Given the description of an element on the screen output the (x, y) to click on. 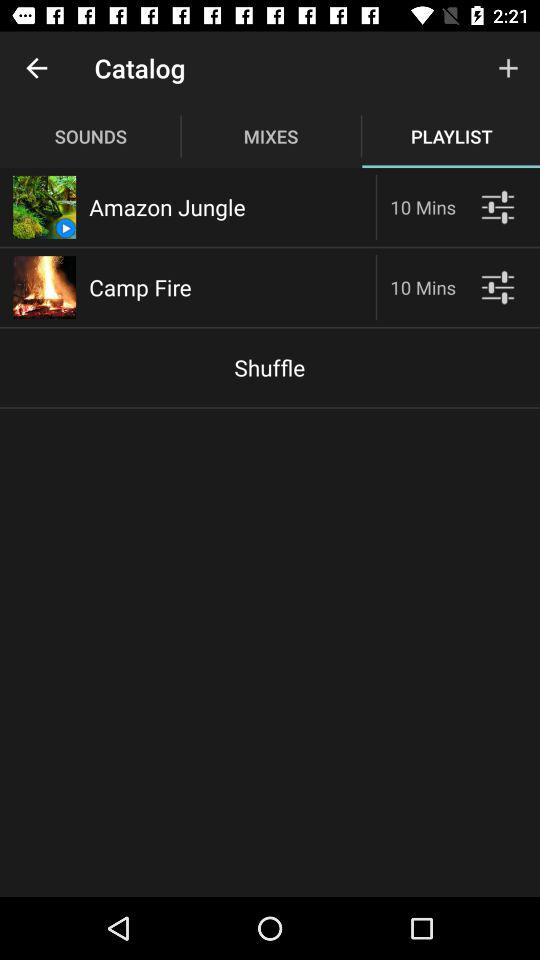
see player options (498, 206)
